Given the description of an element on the screen output the (x, y) to click on. 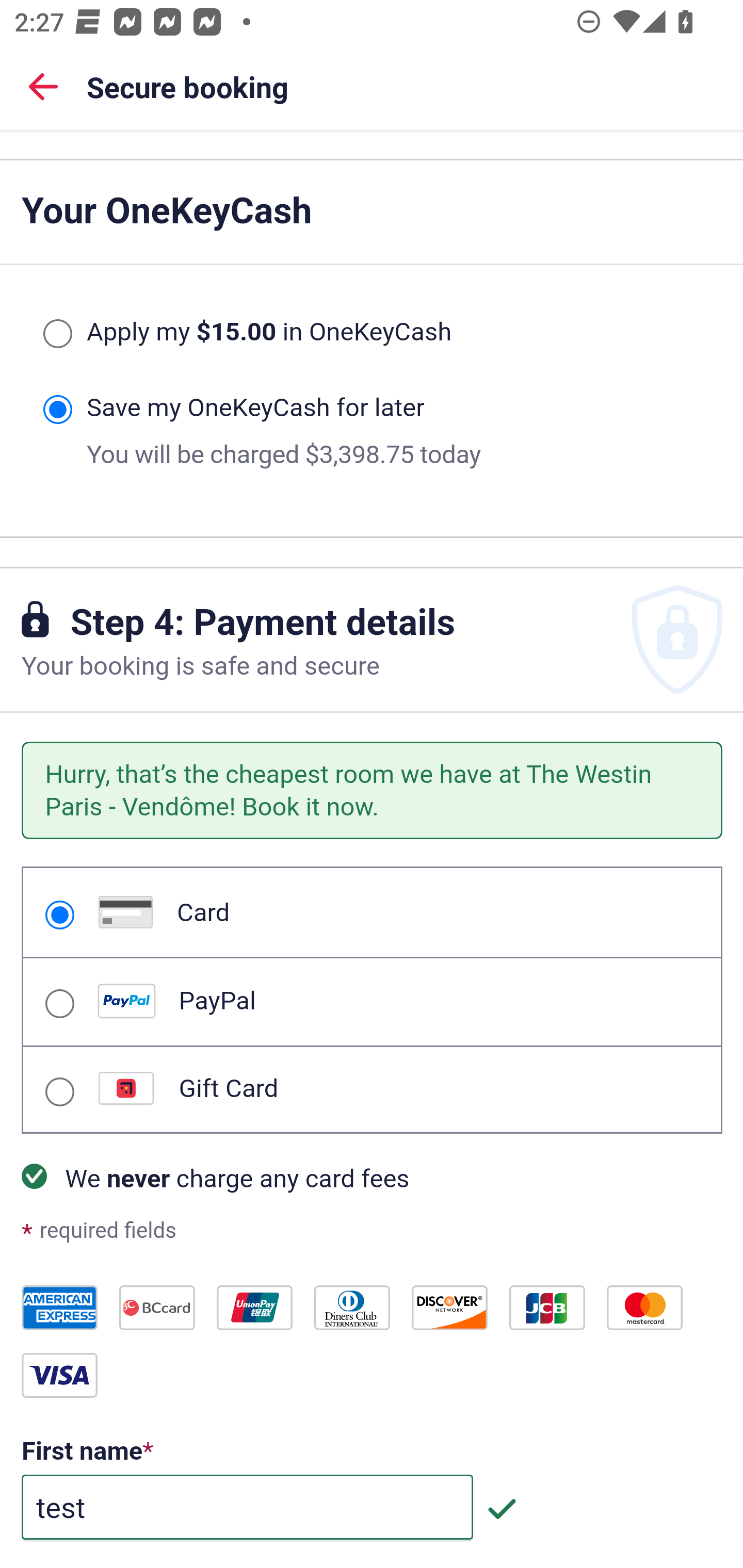
Back (43, 86)
Apply my $15.00 in OneKeyCash (57, 334)
Card (59, 915)
PayPal (59, 1004)
Gift Card (59, 1093)
test (247, 1507)
